Given the description of an element on the screen output the (x, y) to click on. 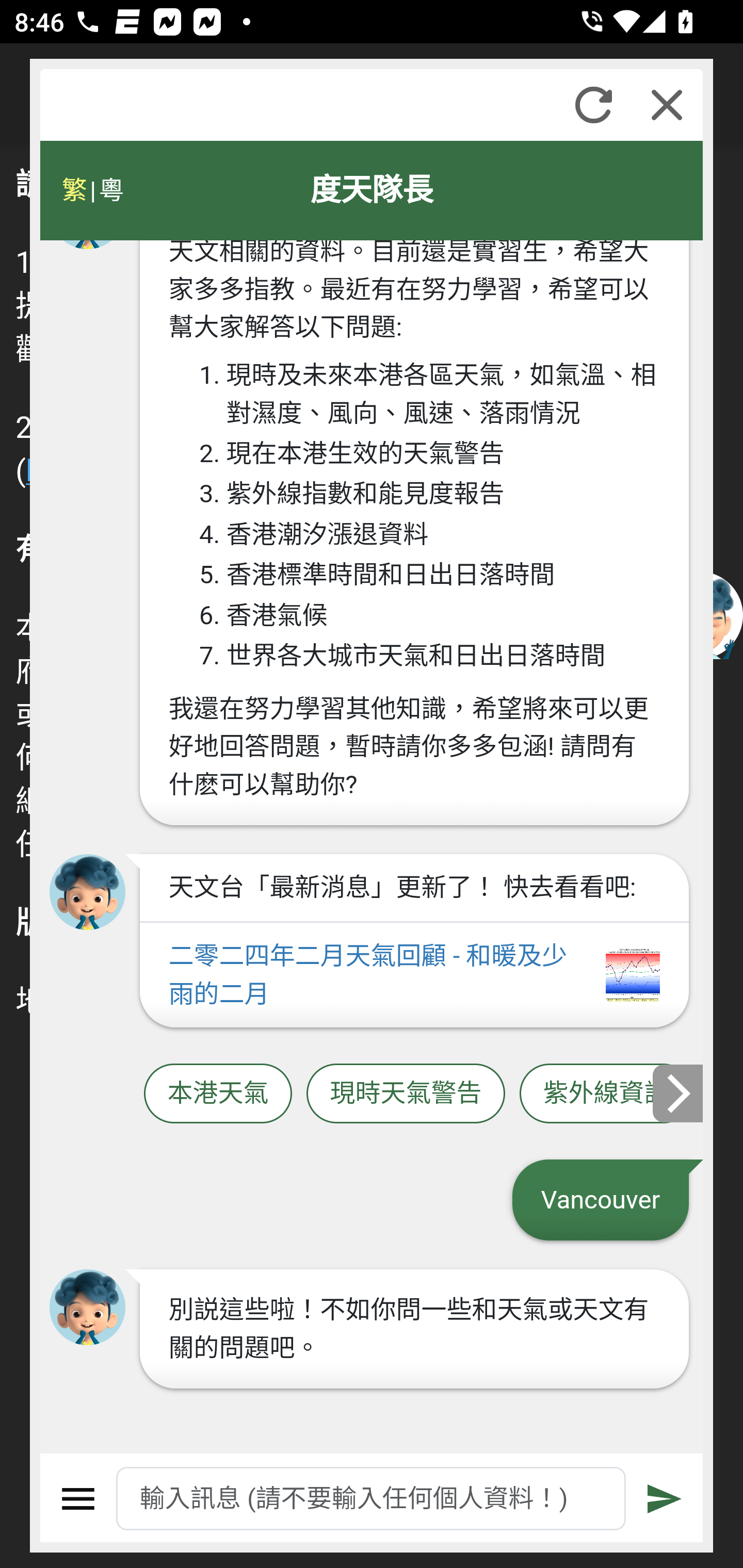
重新整理 (593, 104)
關閉 (666, 104)
繁 (73, 190)
粵 (110, 190)
二零二四年二月天氣回顧 - 和暖及少雨的二月 (413, 974)
本港天氣 (217, 1093)
現時天氣警告 (405, 1093)
紫外線資訊 (605, 1093)
下一張 (678, 1092)
選單 (78, 1498)
遞交 (665, 1498)
